Given the description of an element on the screen output the (x, y) to click on. 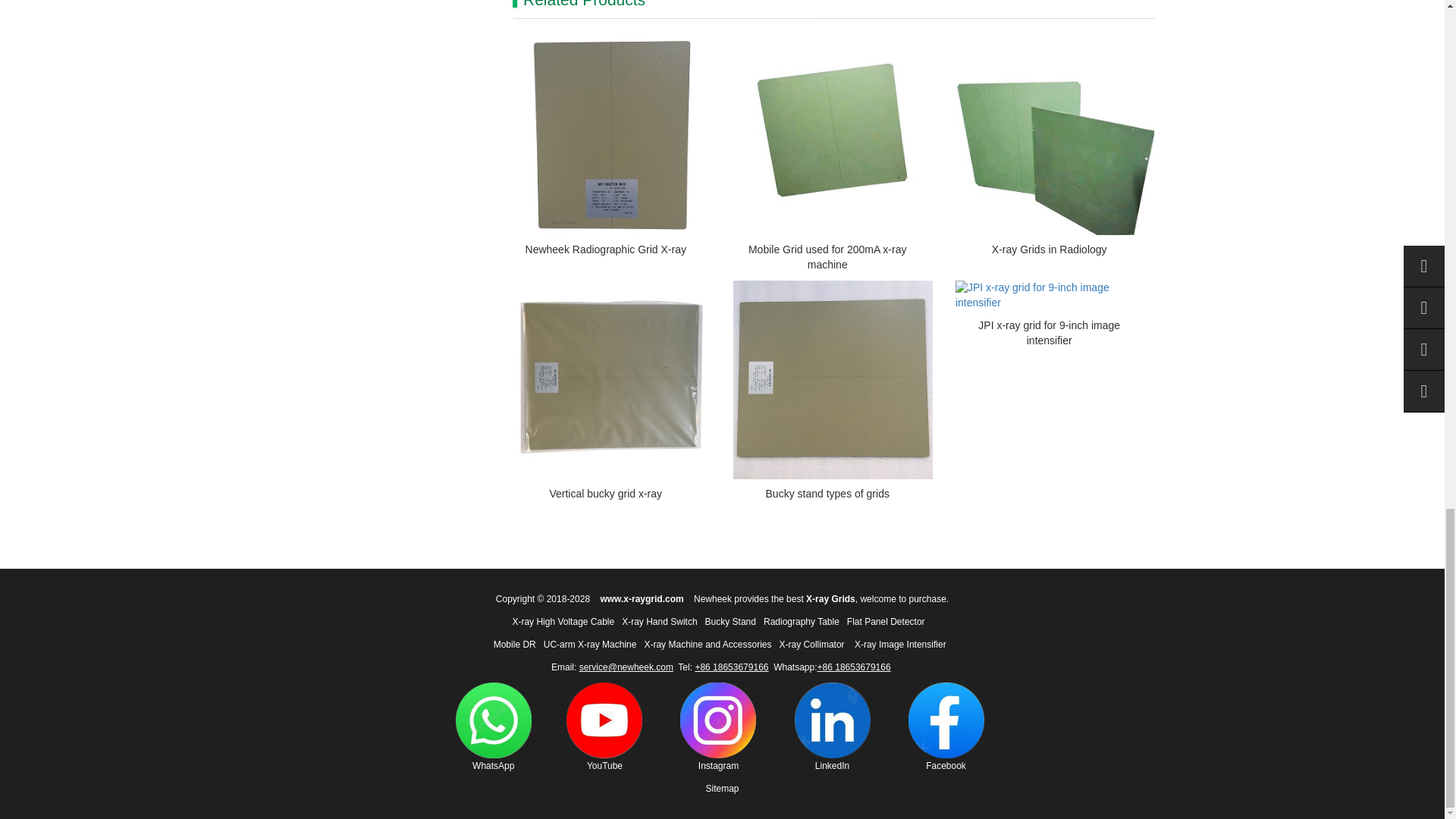
JPI x-ray grid for 9-inch image intensifier (1048, 332)
Bucky stand types of grids (827, 493)
Newheek Radiographic Grid X-ray (605, 249)
Mobile Grid used for 200mA x-ray machine (827, 257)
X-ray Grids in Radiology (1048, 249)
Newheek Radiographic Grid X-ray (605, 249)
Mobile Grid used for 200mA x-ray machine (827, 257)
X-ray Grids in Radiology (1048, 249)
Vertical bucky grid x-ray (605, 493)
